Given the description of an element on the screen output the (x, y) to click on. 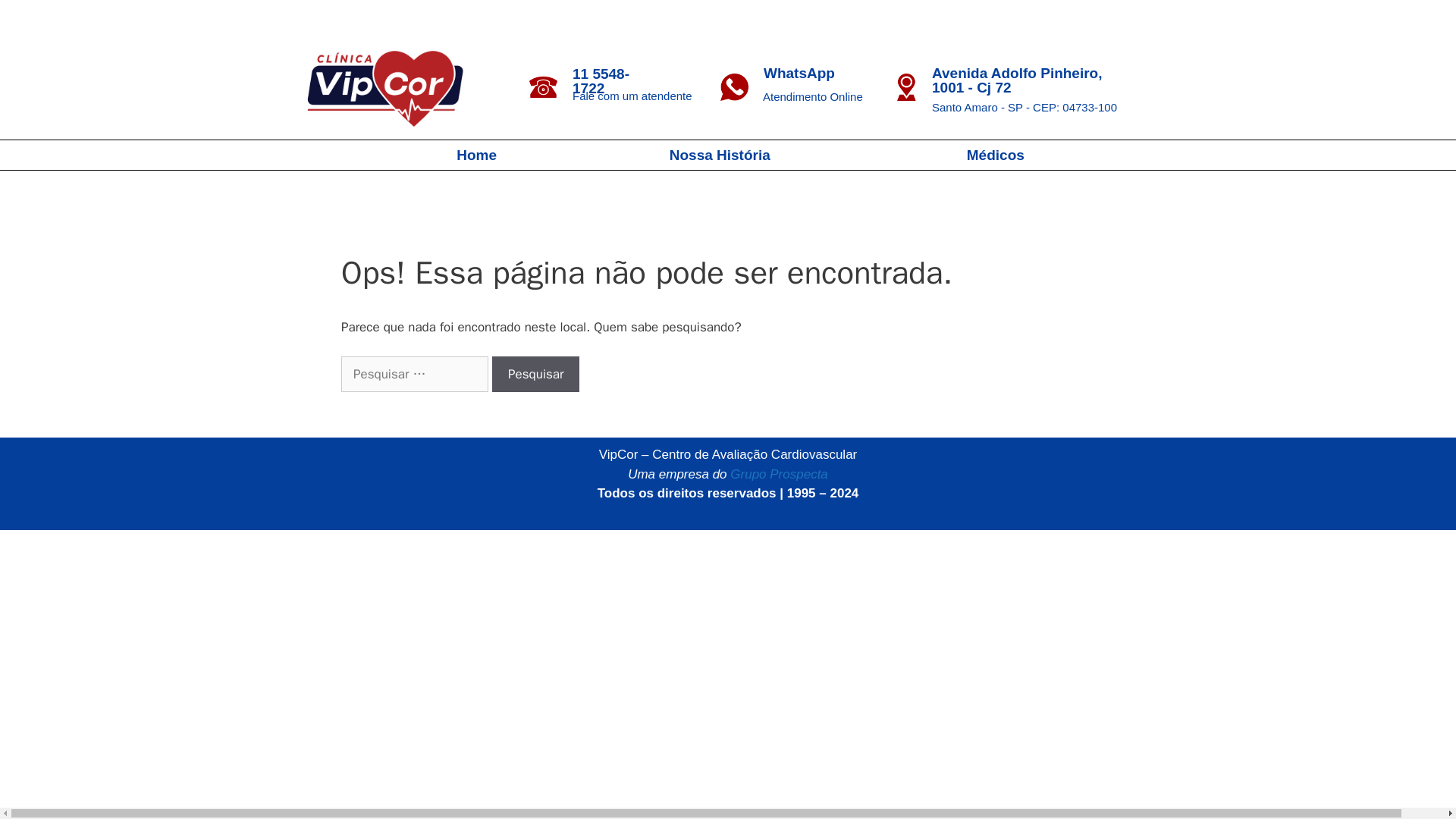
Grupo Prospecta (779, 473)
Pesquisar (535, 374)
Home (476, 154)
Pesquisar (535, 374)
Pesquisar (535, 374)
Pesquisar por: (413, 374)
